Given the description of an element on the screen output the (x, y) to click on. 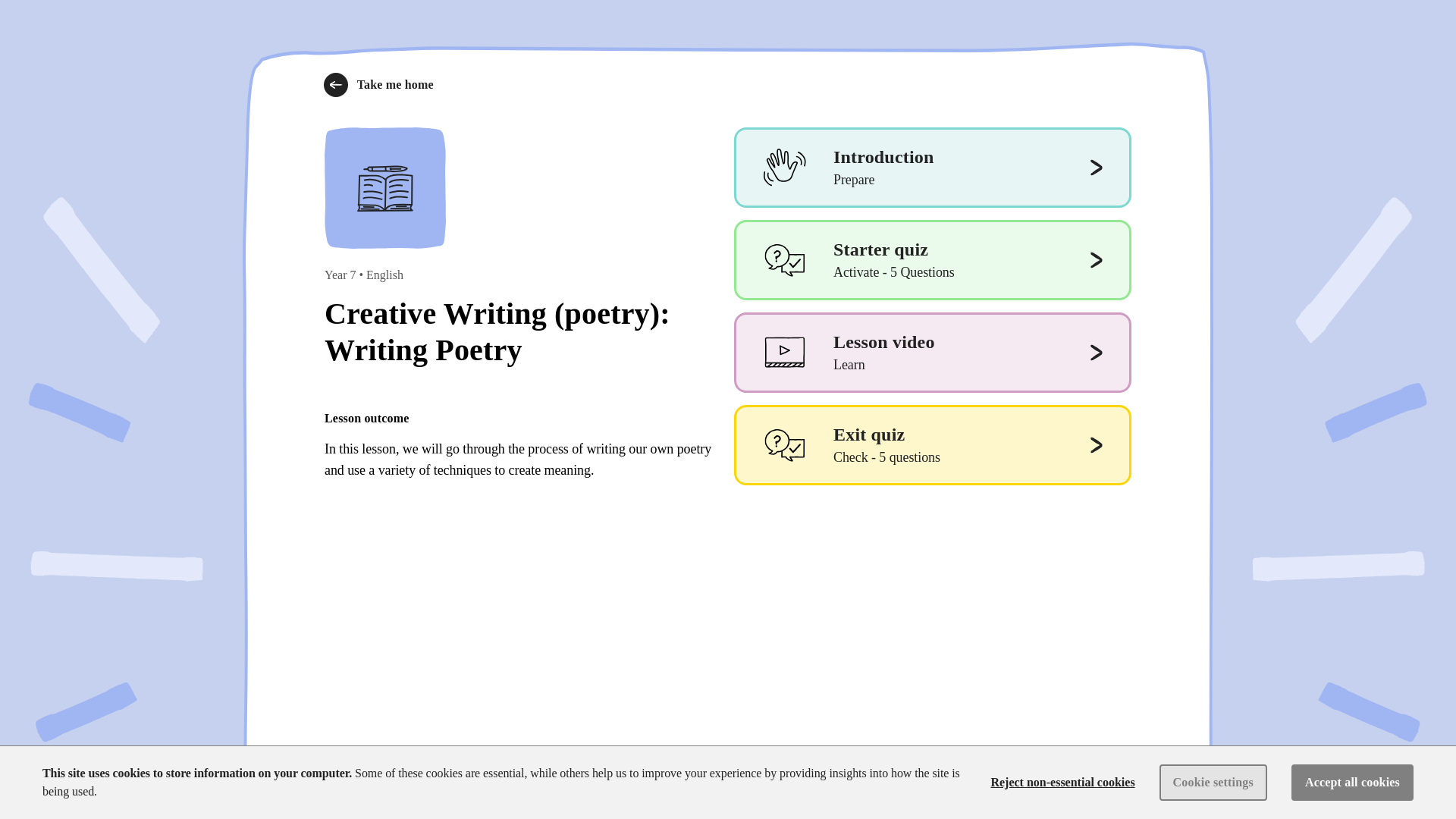
Let's get ready (932, 260)
Cookie settings (1132, 786)
Take me home (1212, 782)
Reject non-essential cookies (932, 352)
Accept all cookies (378, 84)
